Given the description of an element on the screen output the (x, y) to click on. 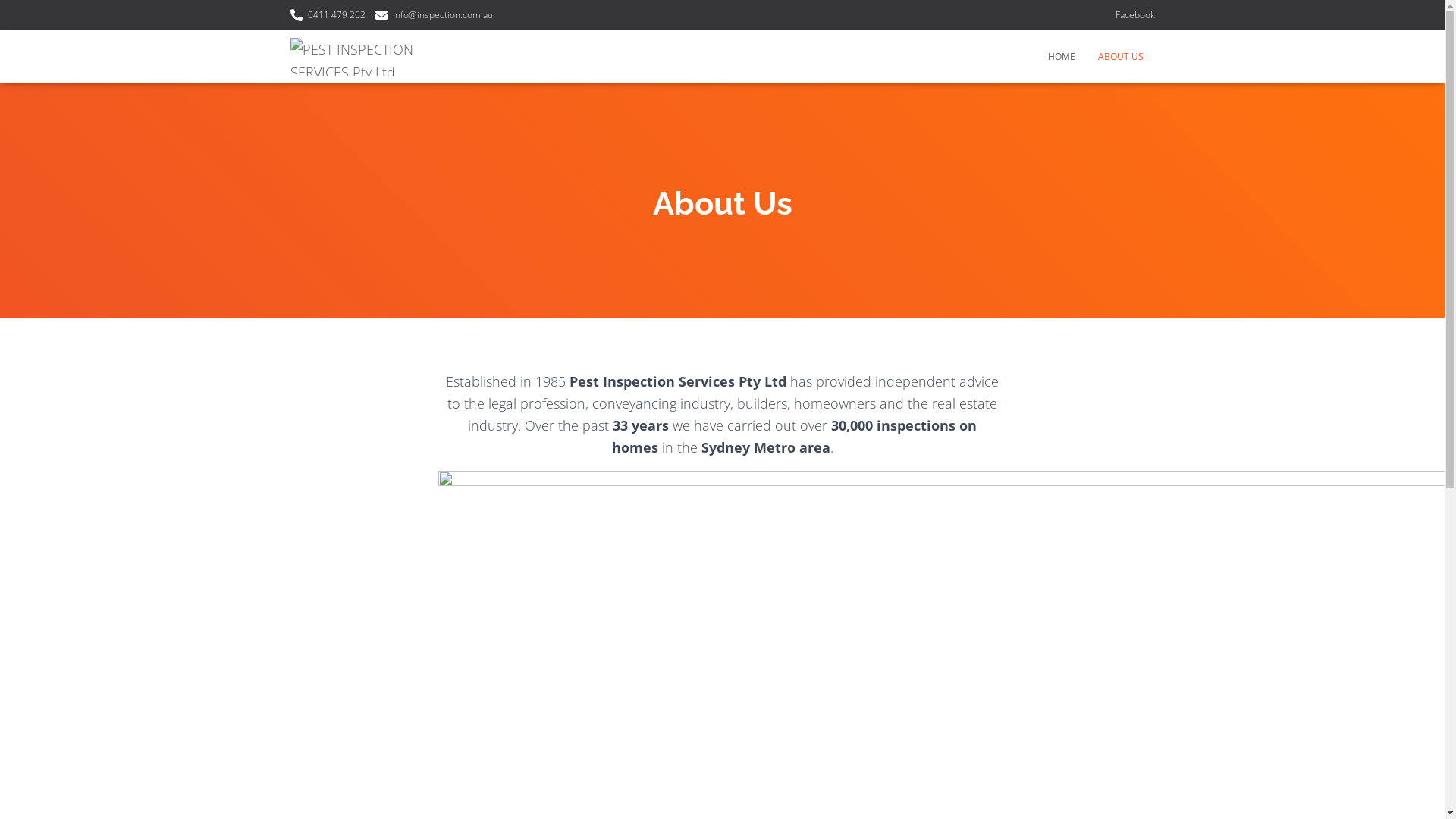
0411 479 262 Element type: text (326, 15)
HOME Element type: text (1060, 56)
Facebook Element type: text (1134, 14)
PEST INSPECTION SERVICES Pty Ltd Element type: hover (379, 56)
ABOUT US Element type: text (1119, 56)
info@inspection.com.au Element type: text (433, 15)
